Given the description of an element on the screen output the (x, y) to click on. 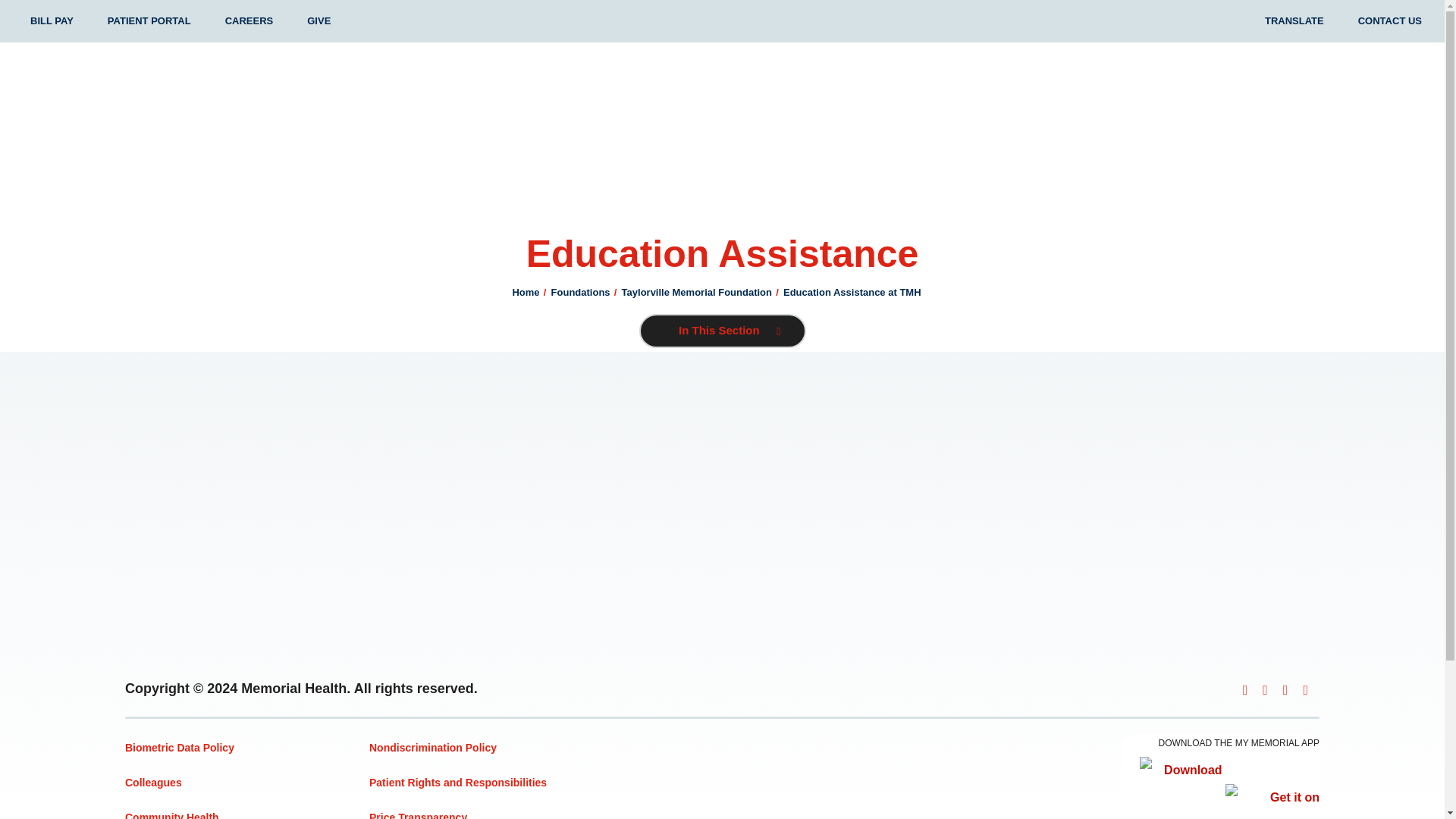
BILL PAY (52, 21)
Bill Pay link (52, 21)
Translate link (1294, 21)
PATIENT PORTAL (148, 21)
Careers link (249, 21)
Patient Portal link (148, 21)
Contact Us link (1390, 21)
CAREERS (249, 21)
CONTACT US (1390, 21)
TRANSLATE (1294, 21)
